Given the description of an element on the screen output the (x, y) to click on. 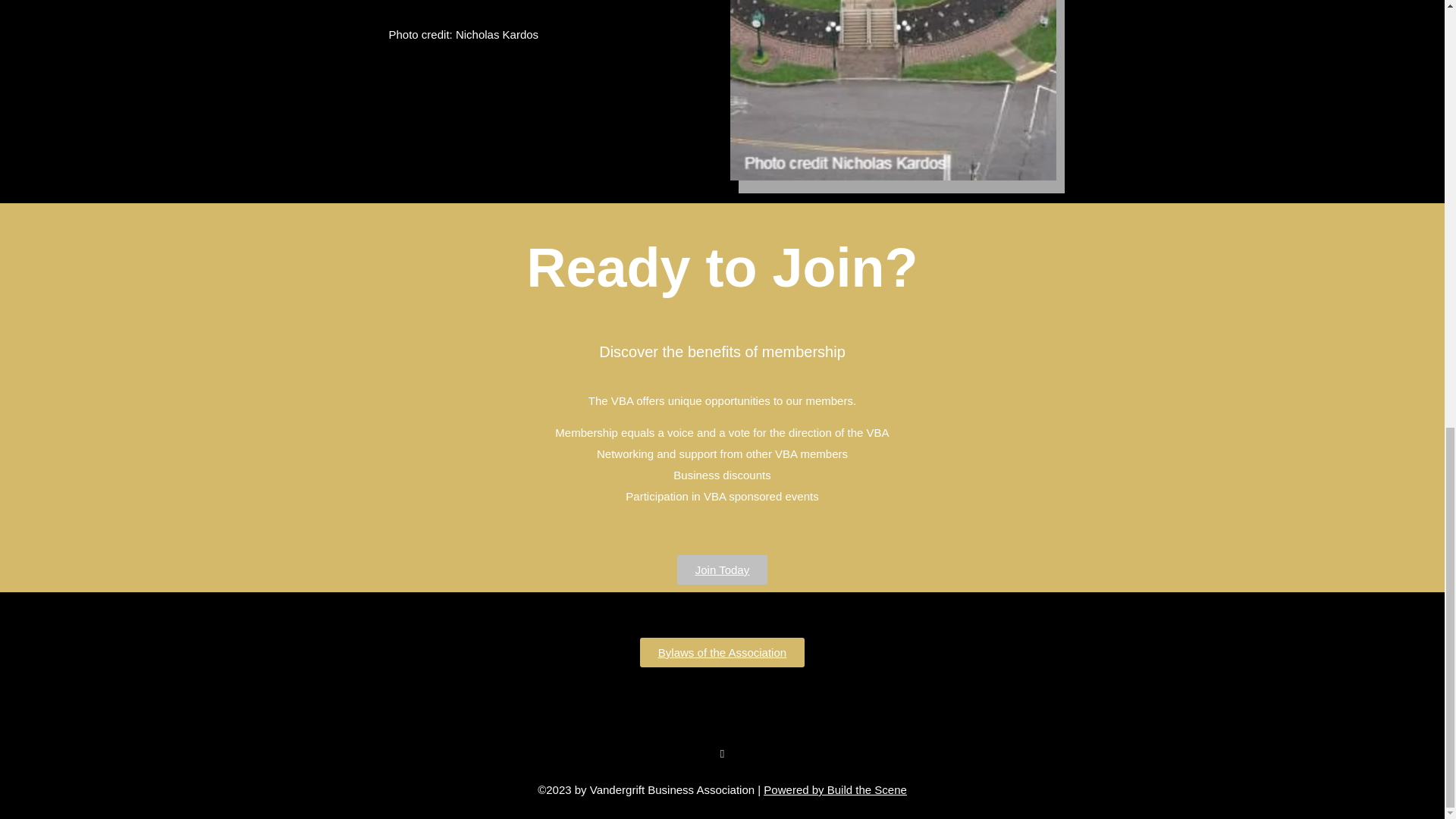
Join Today (722, 569)
Bylaws of the Association (722, 652)
Powered by Build the Scene (833, 789)
